Given the description of an element on the screen output the (x, y) to click on. 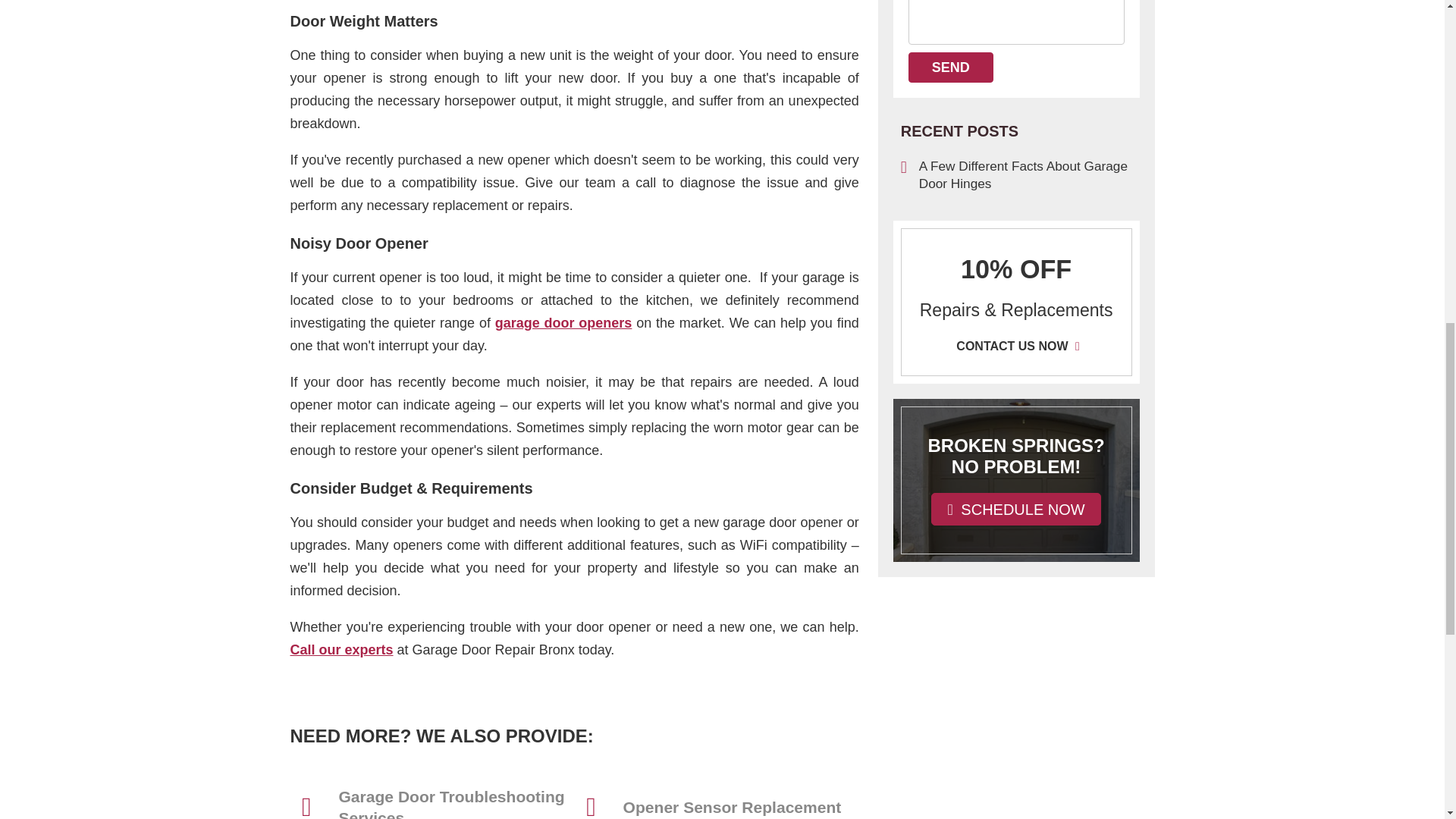
CONTACT US NOW (1015, 345)
Our team will solve all your opener related problems (341, 649)
SCHEDULE NOW (1015, 509)
A Few Different Facts About Garage Door Hinges (1016, 174)
garage door openers (563, 322)
Garage door opener (563, 322)
SEND (950, 67)
Call our experts (341, 649)
SEND (950, 67)
